Given the description of an element on the screen output the (x, y) to click on. 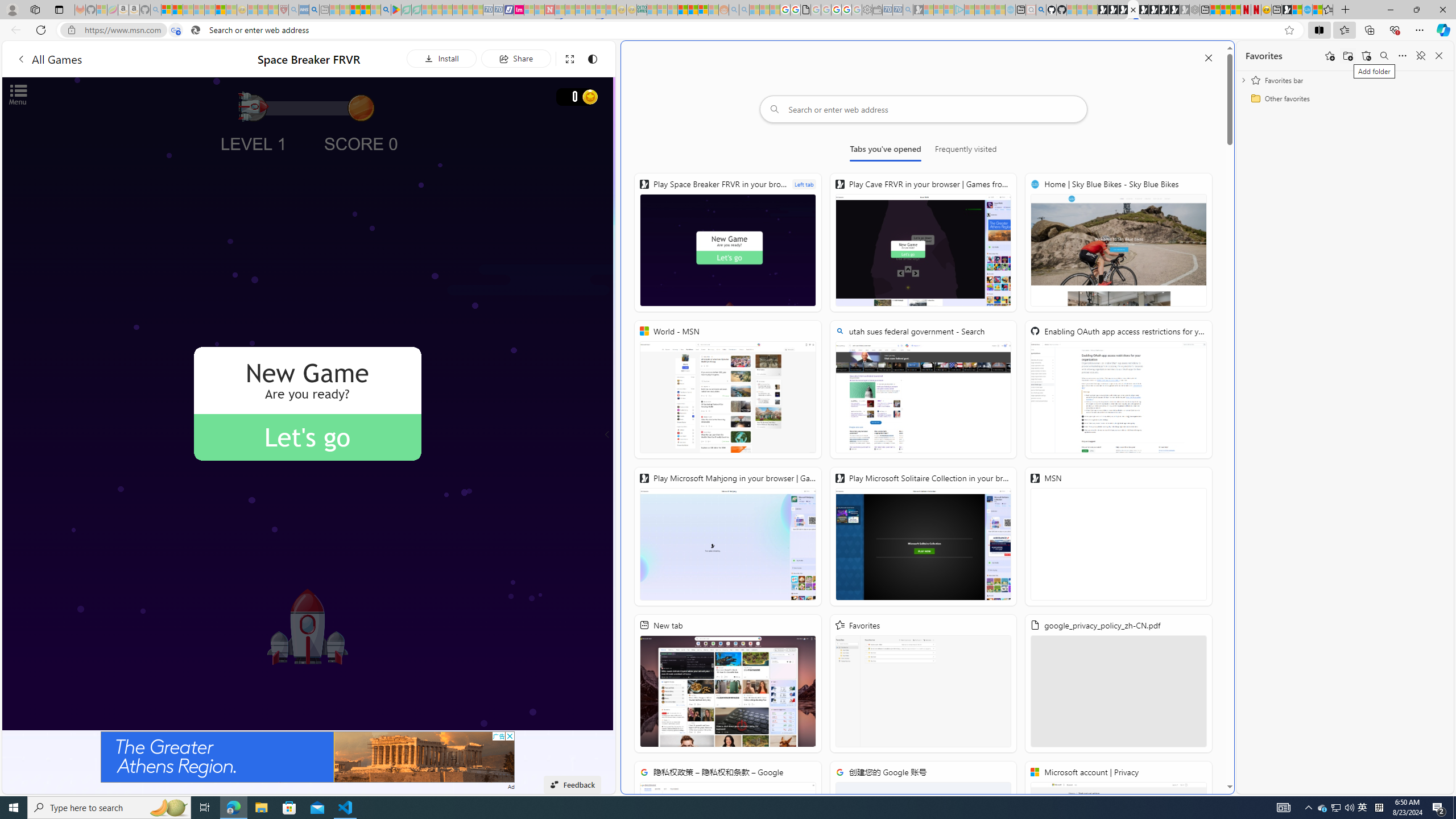
github - Search (1040, 9)
Class: control (606, 434)
Change to dark mode (592, 58)
Settings - Sleeping (866, 9)
Bluey: Let's Play! - Apps on Google Play (395, 9)
Tabs you've opened (885, 151)
Add this page to favorites (1330, 55)
Search icon (195, 29)
